Given the description of an element on the screen output the (x, y) to click on. 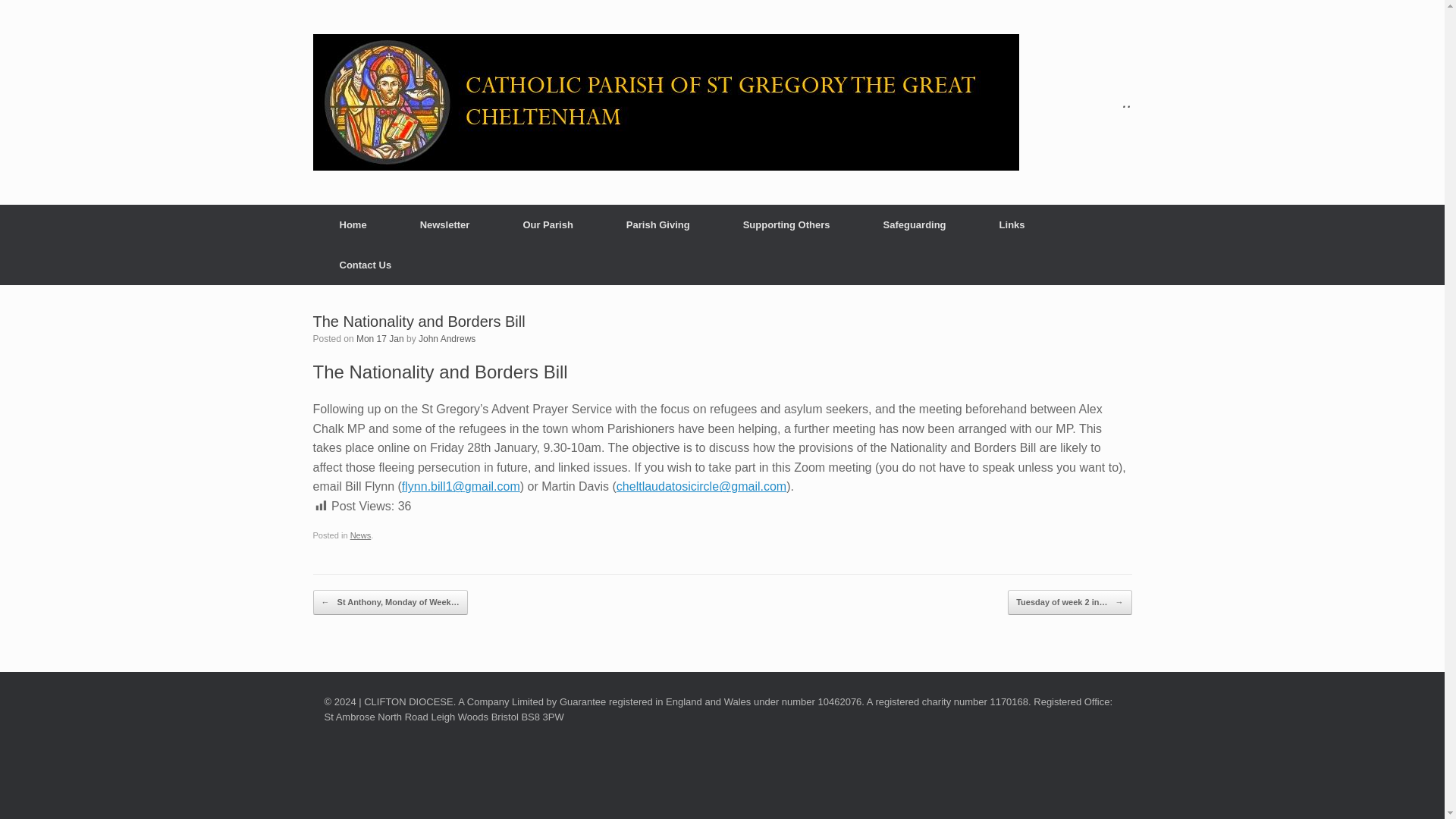
Contact Us (365, 264)
Safeguarding (914, 224)
21:30 (380, 338)
St Gregorys Church (665, 102)
View all posts by John Andrews (447, 338)
News (360, 534)
Links (1011, 224)
Home (353, 224)
Mon 17 Jan (380, 338)
Newsletter (444, 224)
